Given the description of an element on the screen output the (x, y) to click on. 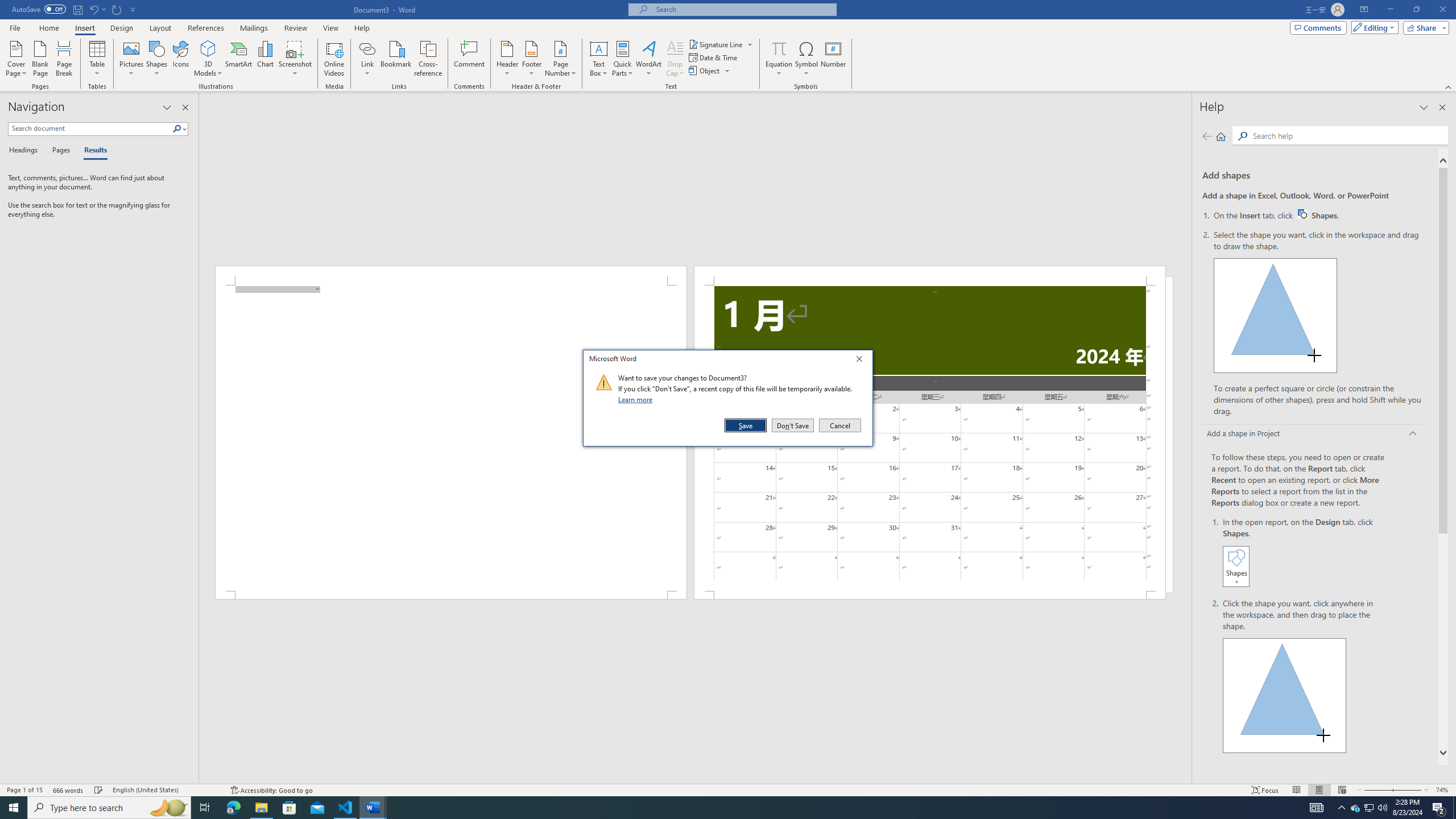
Task Pane Options (167, 107)
Number... (833, 58)
Pictures (131, 58)
Page Number (560, 58)
Microsoft Edge (233, 807)
Show desktop (1454, 807)
Word W32 Shapes button icon (1302, 213)
Type here to search (108, 807)
Class: NetUIScrollBar (695, 778)
Don't Save (792, 425)
Shapes (156, 58)
